Given the description of an element on the screen output the (x, y) to click on. 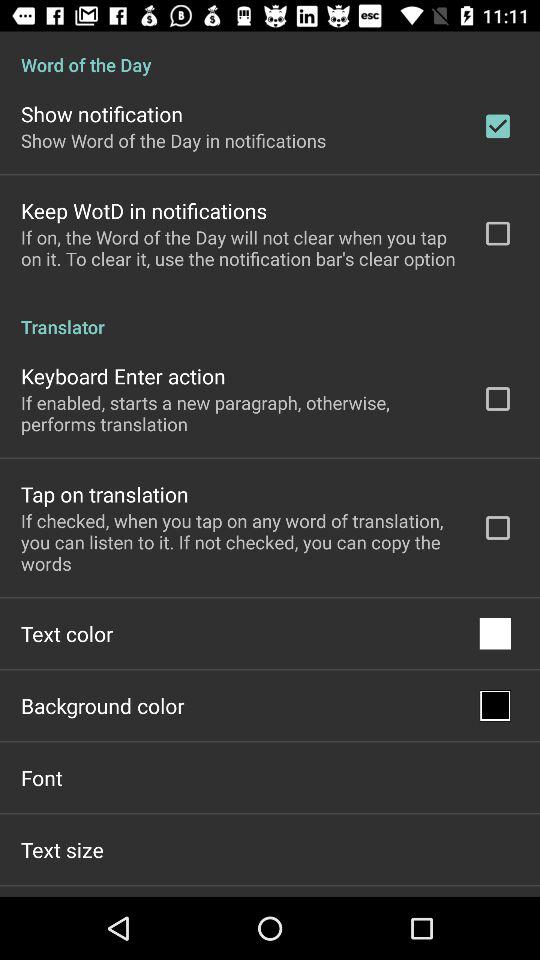
swipe until the translator icon (270, 316)
